Given the description of an element on the screen output the (x, y) to click on. 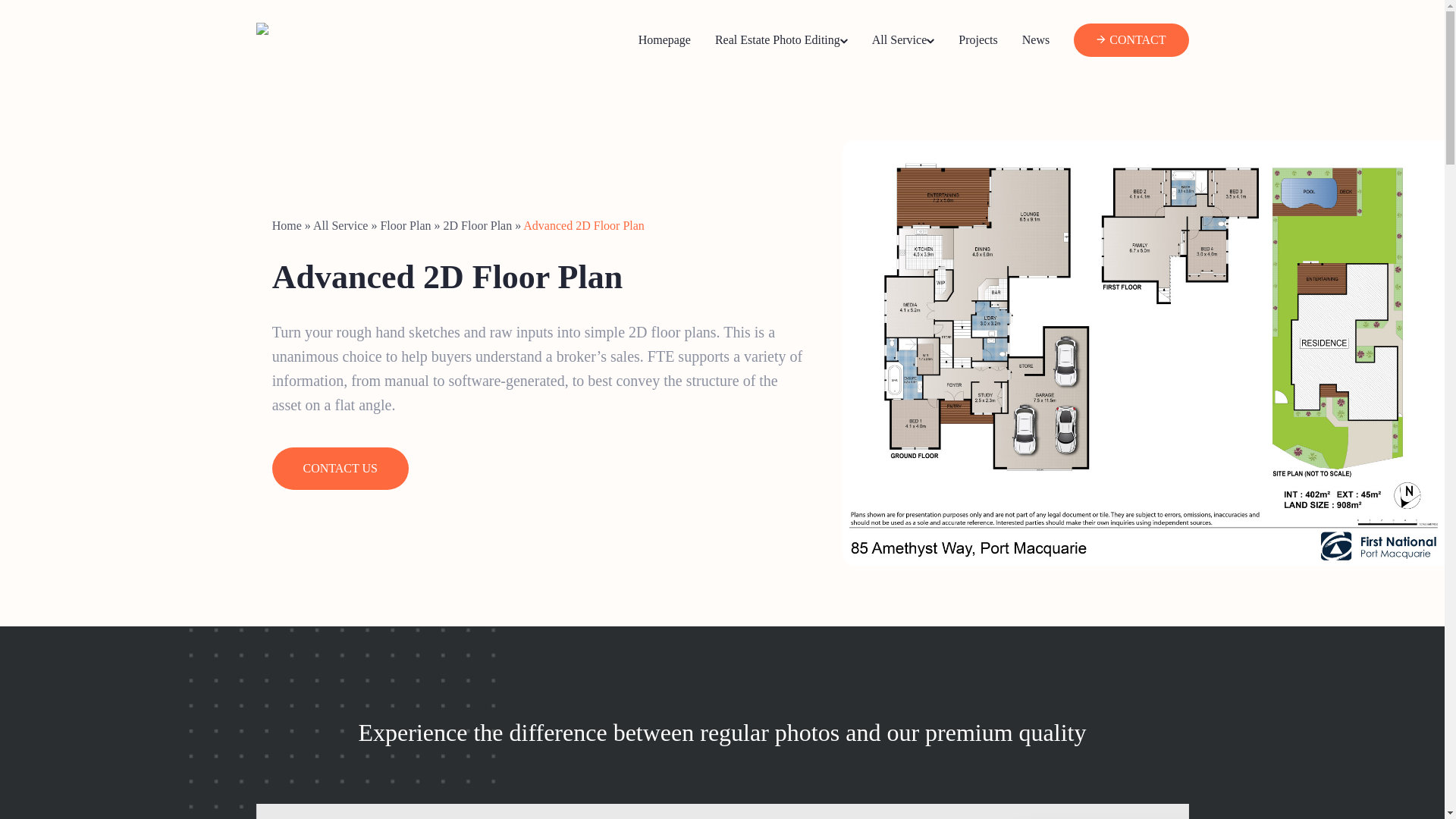
Home (286, 225)
Real Estate Photo Editing (780, 39)
Homepage (664, 39)
Projects (977, 39)
CONTACT (1137, 39)
2D Floor Plan (478, 225)
CONTACT US (340, 468)
All Service (340, 225)
News (1035, 39)
All Service (903, 39)
